Given the description of an element on the screen output the (x, y) to click on. 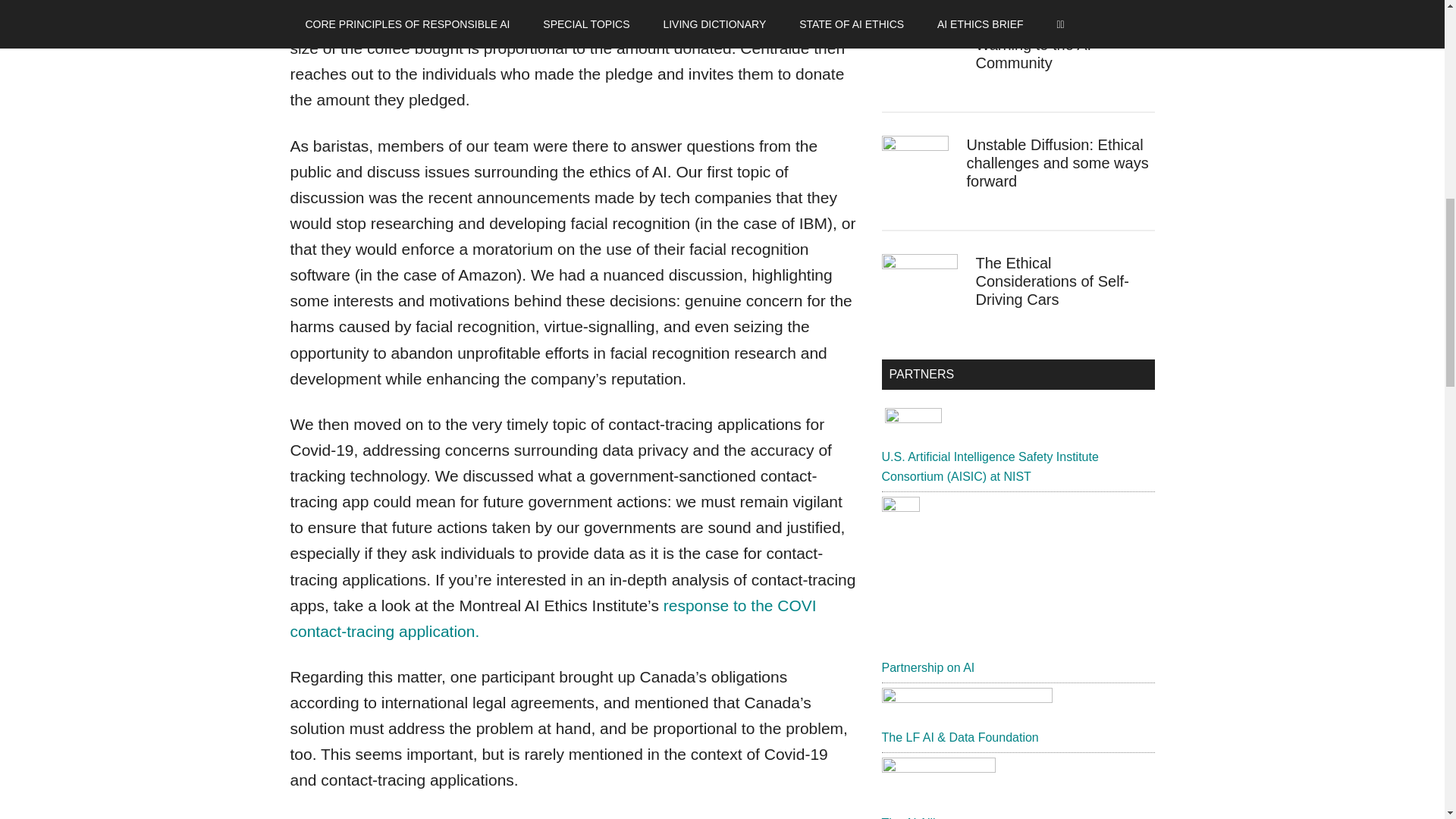
Oppenheimer As A Timely Warning to the AI Community (1061, 44)
The Ethical Considerations of Self-Driving Cars (1051, 280)
response to the COVI contact-tracing application. (552, 618)
Partnership on AI (927, 667)
Unstable Diffusion: Ethical challenges and some ways forward (1057, 162)
